Given the description of an element on the screen output the (x, y) to click on. 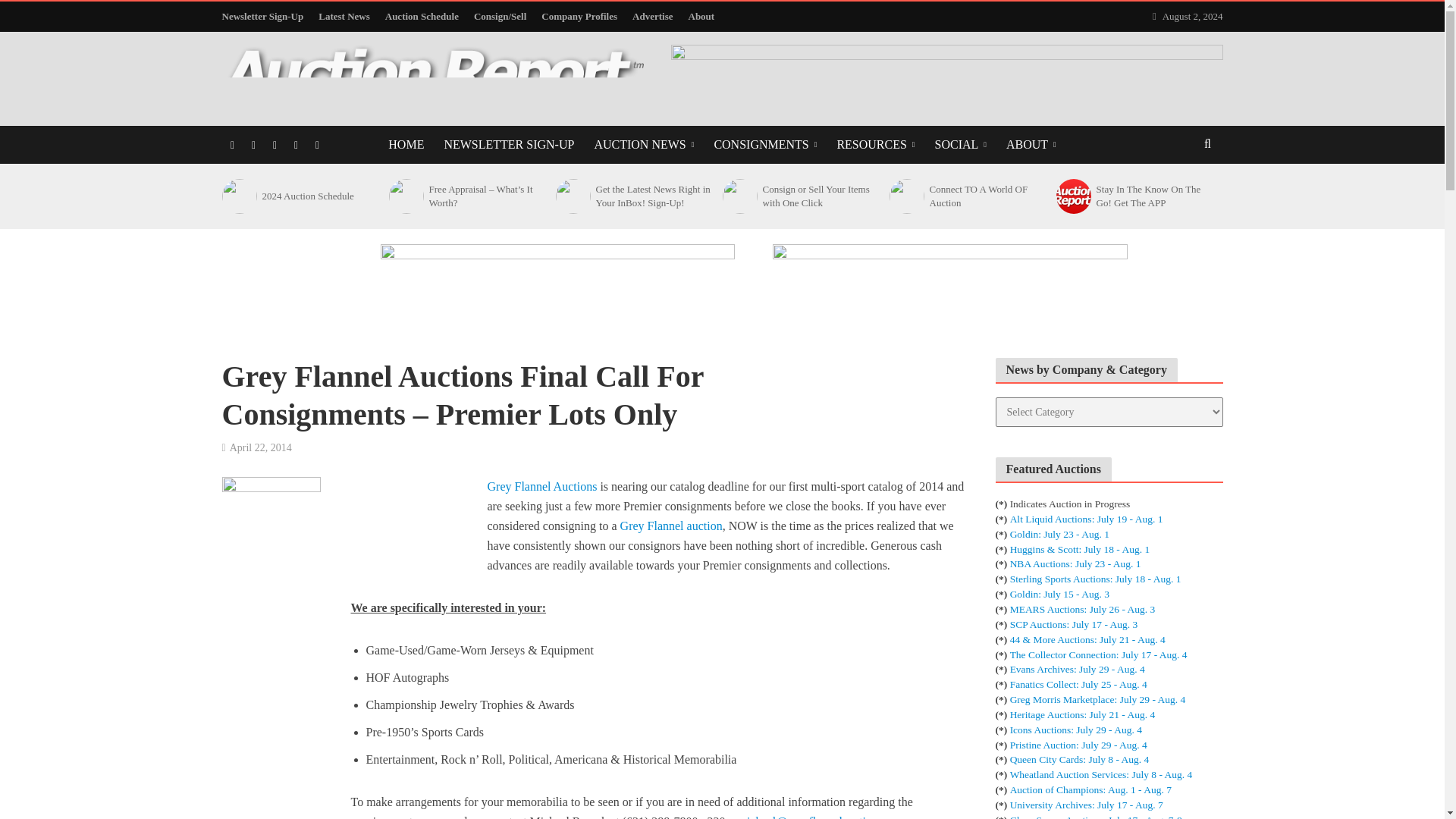
NEWSLETTER SIGN-UP (508, 144)
Consign or Sell Your Items with One Click (738, 196)
Connect TO A World OF Auction (904, 196)
Newsletter Sign-Up (266, 16)
RESOURCES (875, 144)
Auction Schedule (421, 16)
HOME (405, 144)
Stay In The Know On The Go! Get The APP (1071, 196)
CONSIGNMENTS (765, 144)
2024 Auction Schedule (237, 196)
About (701, 16)
Latest News (344, 16)
Get the Latest News Right in Your InBox! Sign-Up! (571, 196)
SOCIAL (959, 144)
Advertise (651, 16)
